Given the description of an element on the screen output the (x, y) to click on. 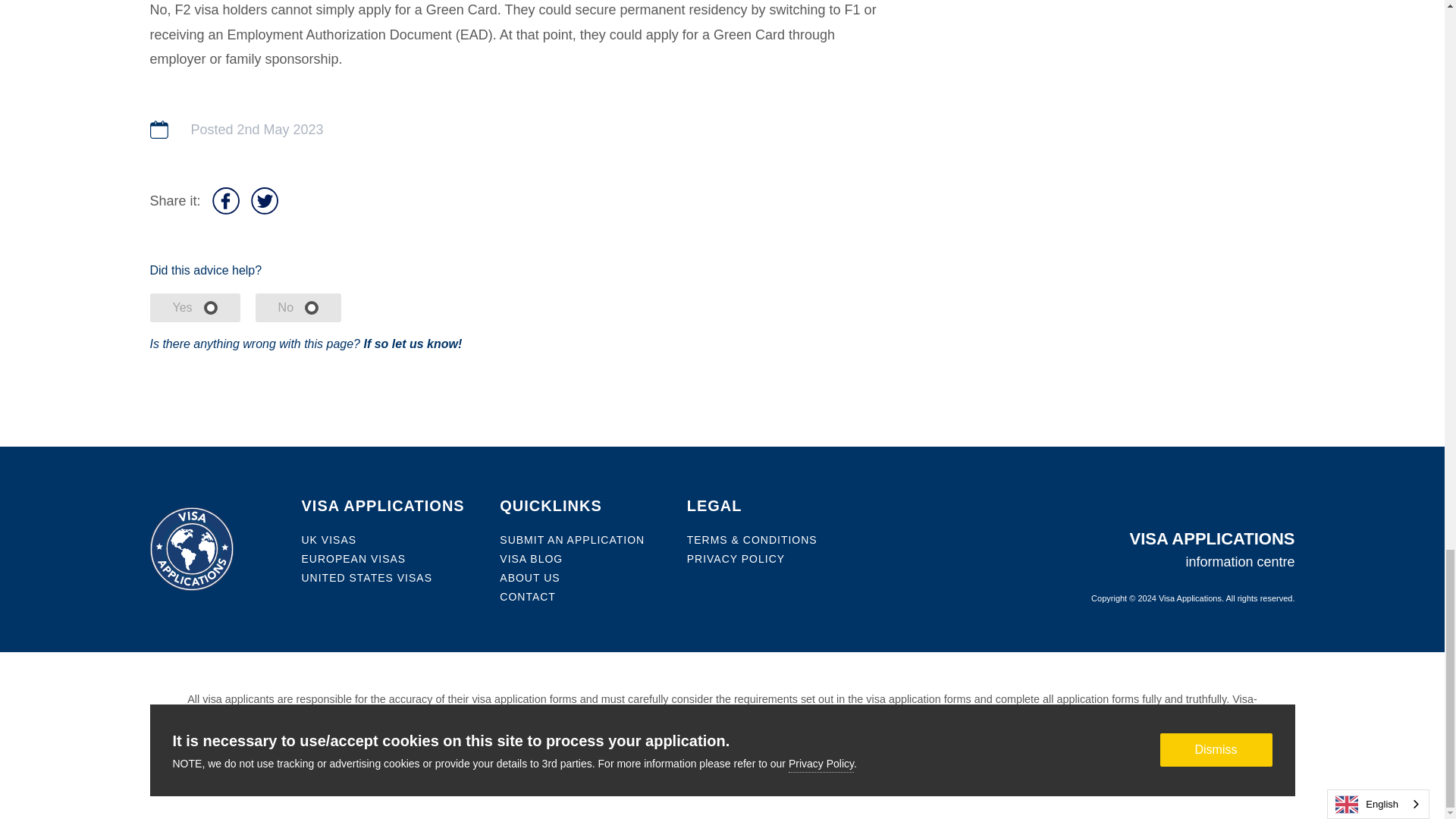
Share on Facebook (226, 200)
PRIVACY POLICY (735, 558)
UNITED STATES VISAS (366, 577)
CONTACT (527, 596)
SUBMIT AN APPLICATION (572, 539)
VISA BLOG (530, 558)
If so let us know! (411, 343)
Yes (194, 307)
Share on Twitter (264, 200)
ABOUT US (529, 577)
UK VISAS (328, 539)
Visa-Applications.org (706, 710)
Visa Applications (1189, 597)
No (298, 307)
EUROPEAN VISAS (353, 558)
